Given the description of an element on the screen output the (x, y) to click on. 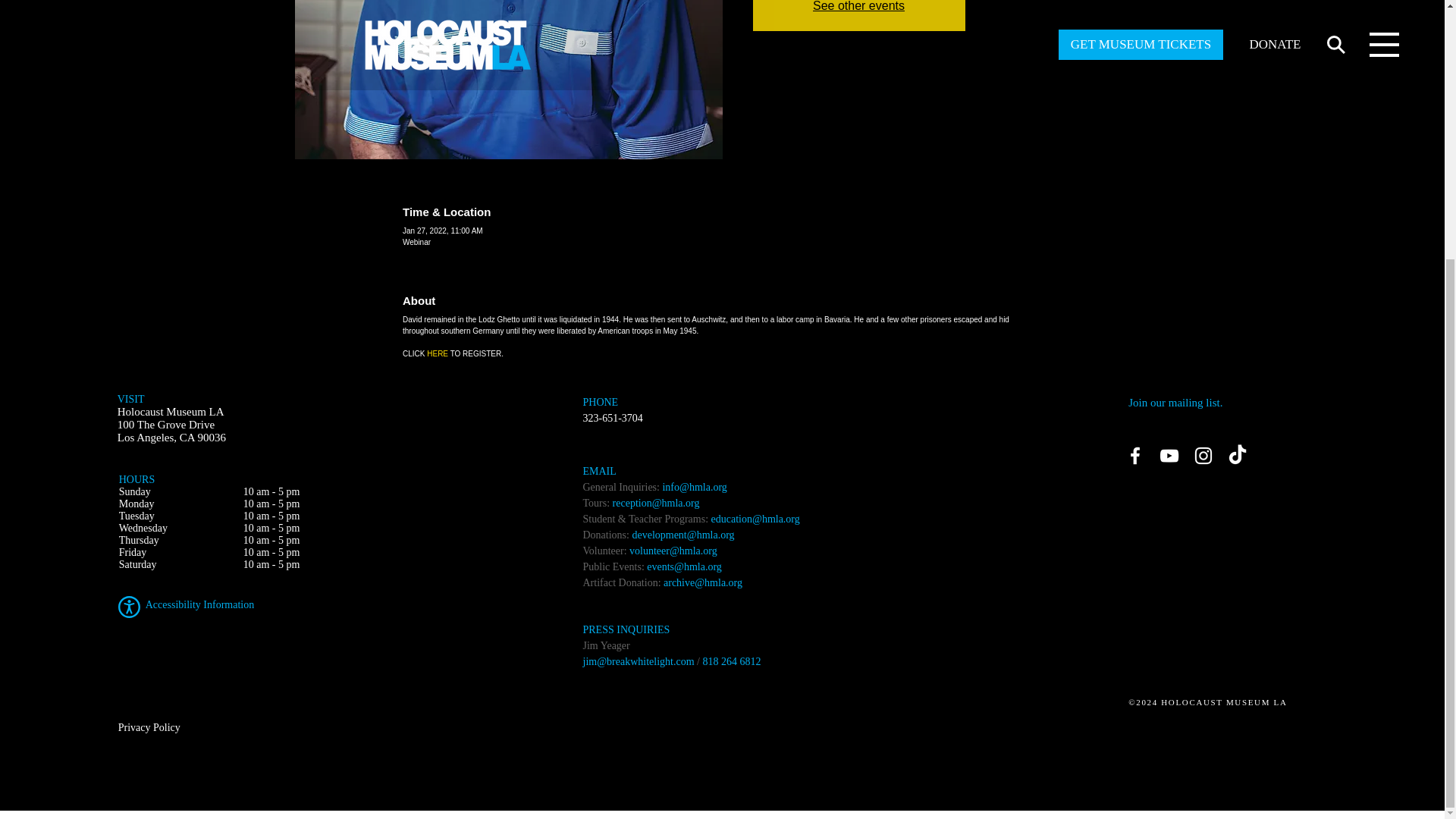
818 264 6812 (730, 660)
VISIT (130, 398)
Accessibility Information (199, 604)
HOURS (136, 478)
PHONE  (601, 401)
HERE (437, 352)
Join our mailing list. (1175, 401)
See other events (858, 6)
Privacy Policy (148, 727)
